Given the description of an element on the screen output the (x, y) to click on. 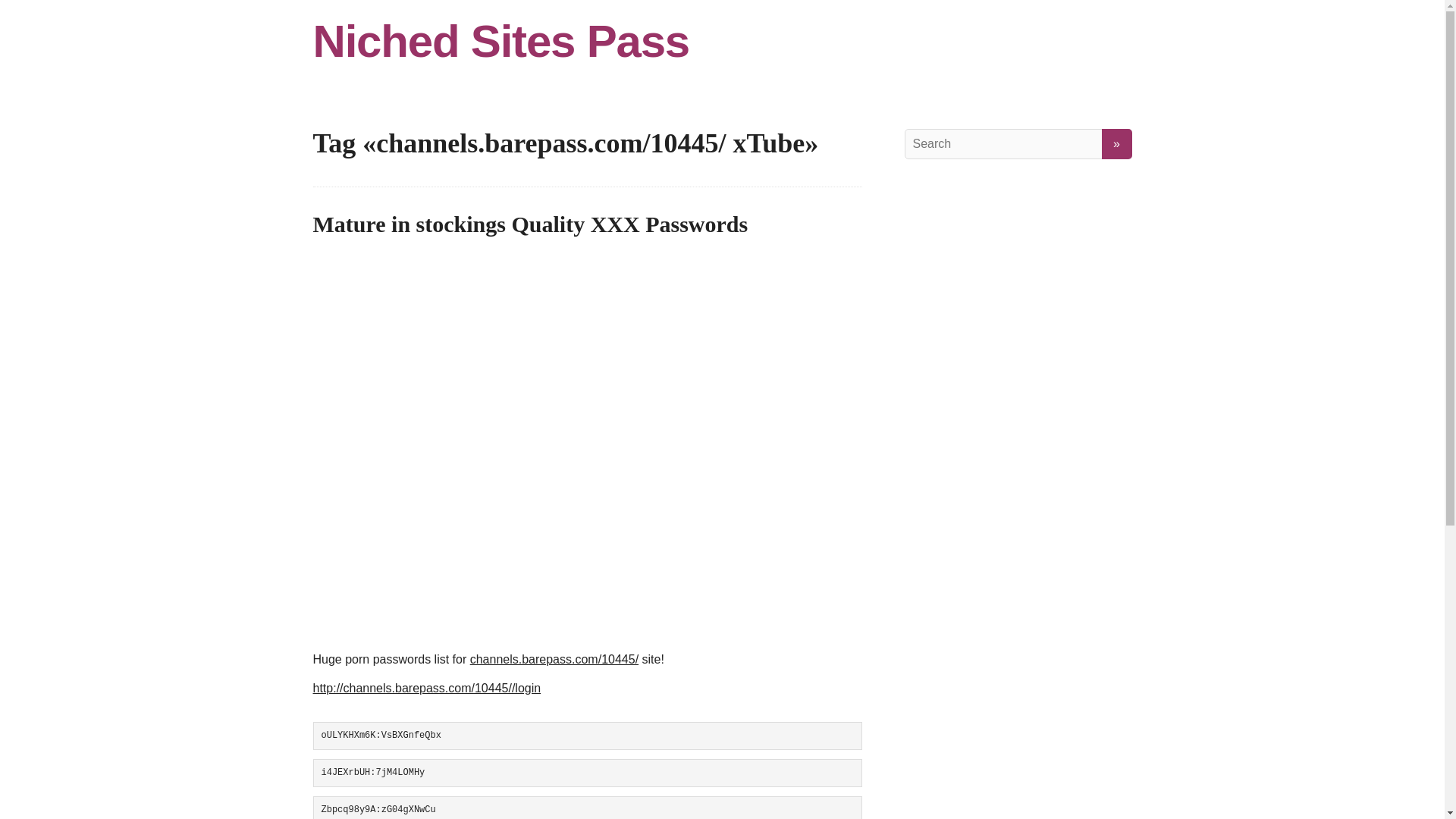
Mature in stockings Quality XXX Passwords (530, 223)
Mature in stockings Quality XXX Passwords (530, 223)
Niched Sites Pass (722, 41)
Niched Sites Pass (722, 41)
